Given the description of an element on the screen output the (x, y) to click on. 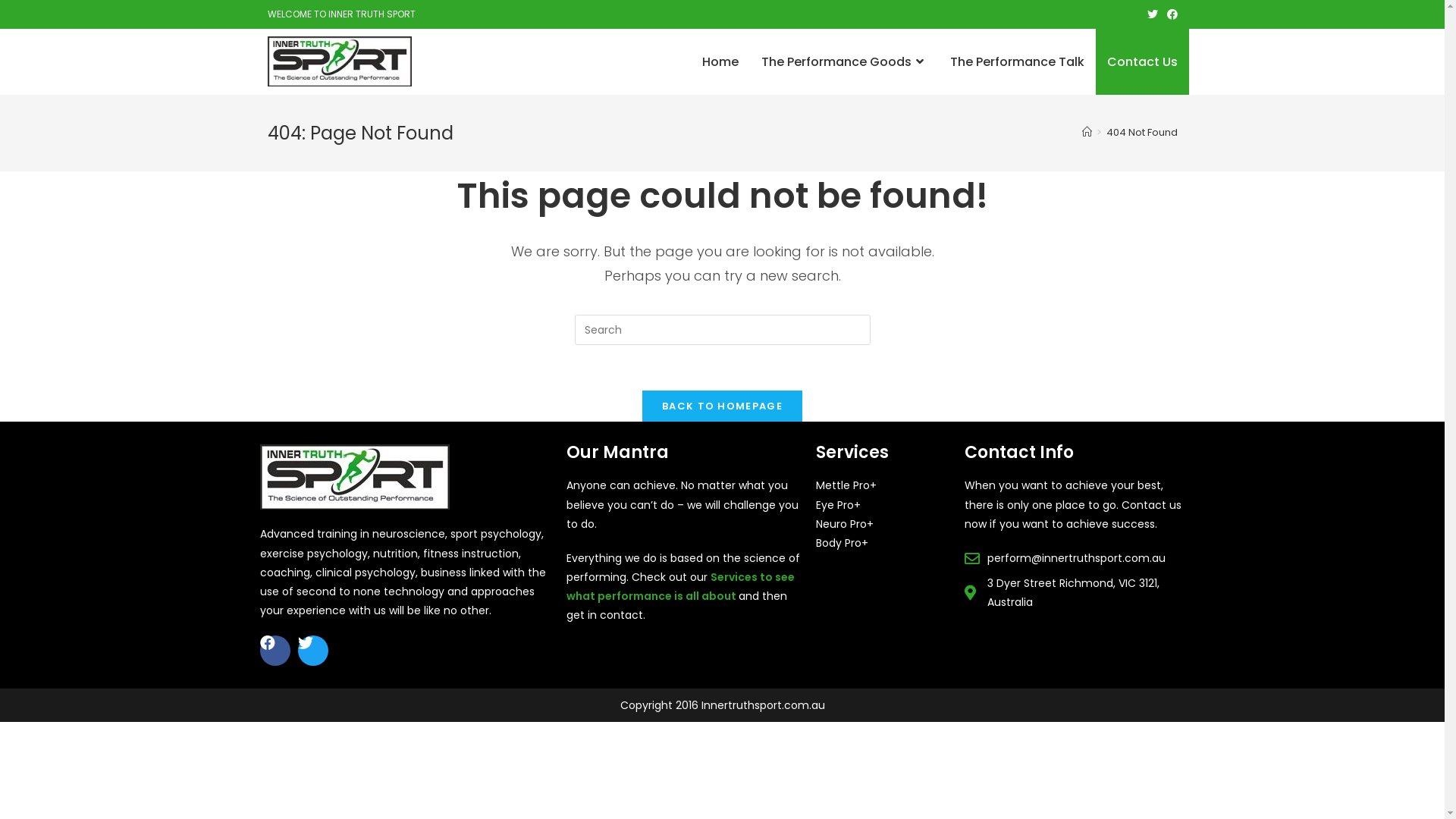
Body Pro+ Element type: text (841, 542)
Contact Us Element type: text (1141, 61)
404 Not Found Element type: text (1140, 132)
The Performance Goods Element type: text (843, 61)
Services to see what performance is all about  Element type: text (680, 586)
Mettle Pro+ Element type: text (845, 484)
Home Element type: text (719, 61)
The Performance Talk Element type: text (1016, 61)
Neuro Pro+ Element type: text (844, 523)
BACK TO HOMEPAGE Element type: text (722, 405)
Eye Pro+ Element type: text (837, 504)
perform@innertruthsport.com.au Element type: text (1064, 558)
